Given the description of an element on the screen output the (x, y) to click on. 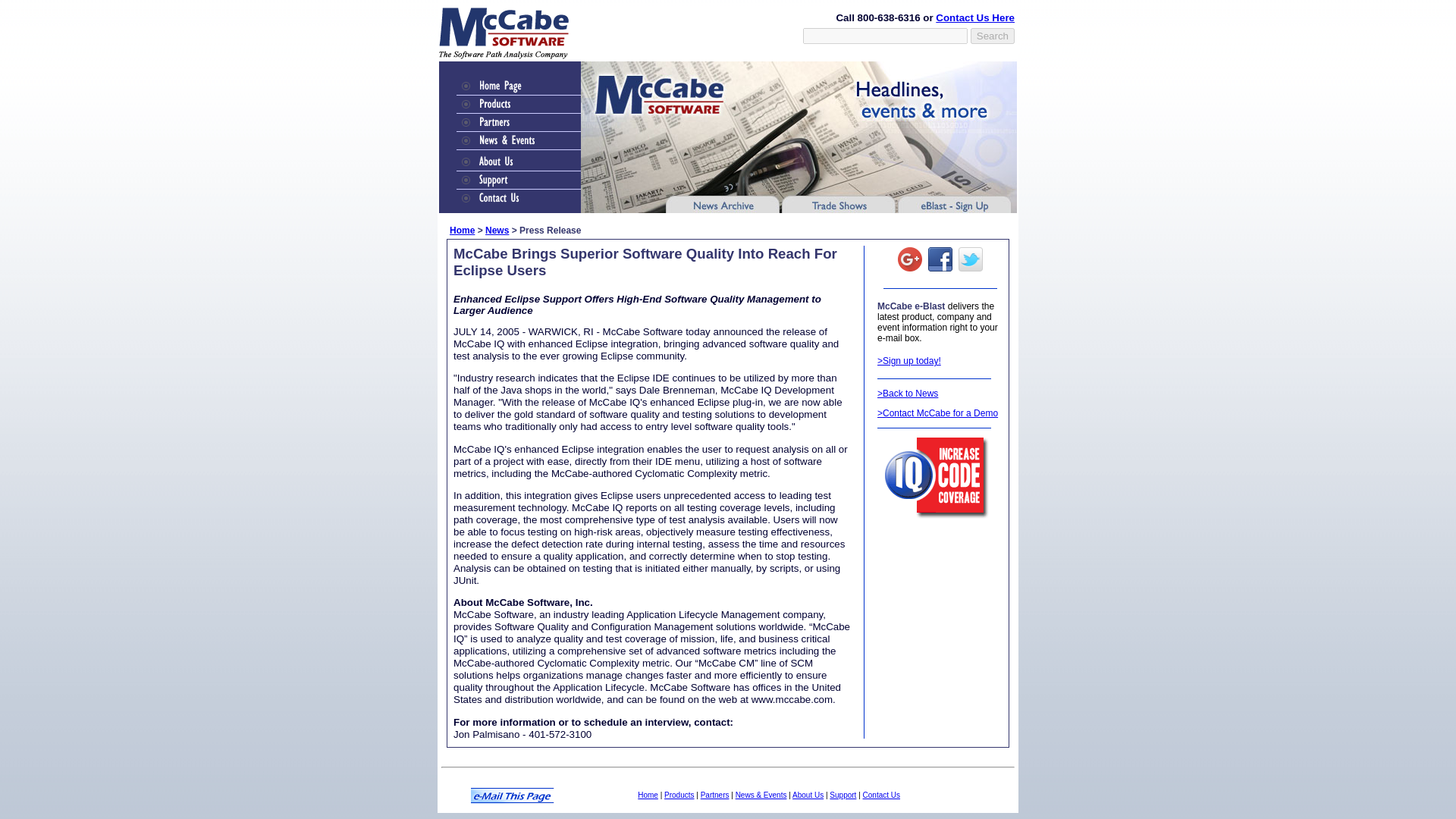
Search (992, 35)
About Us (808, 795)
Contact Us (881, 795)
Products (678, 795)
Support (842, 795)
Search (992, 35)
Home (461, 230)
Contact Us Here (975, 17)
News (496, 230)
Home (647, 795)
Partners (714, 795)
